Given the description of an element on the screen output the (x, y) to click on. 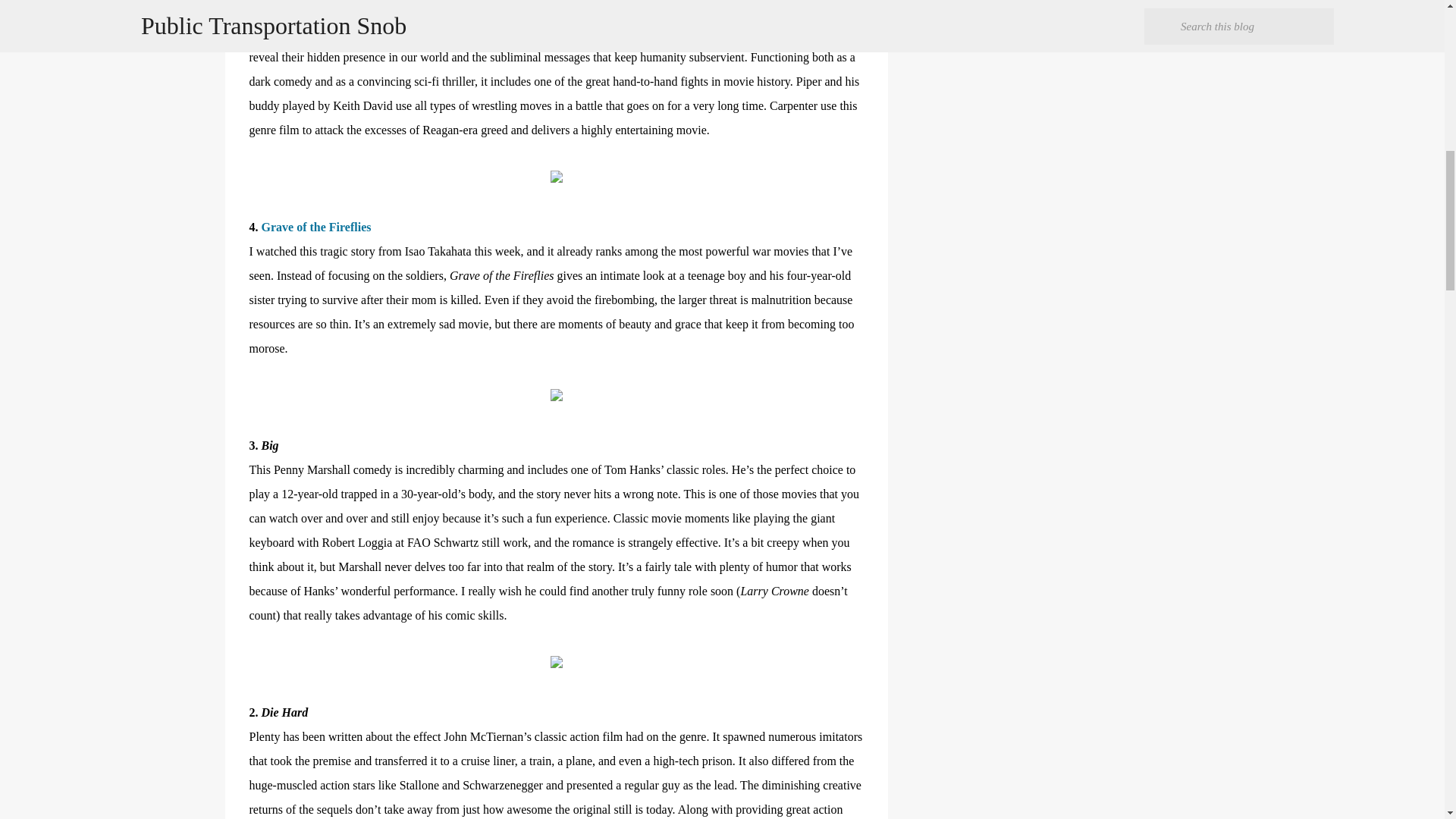
Grave of the Fireflies (315, 226)
